Given the description of an element on the screen output the (x, y) to click on. 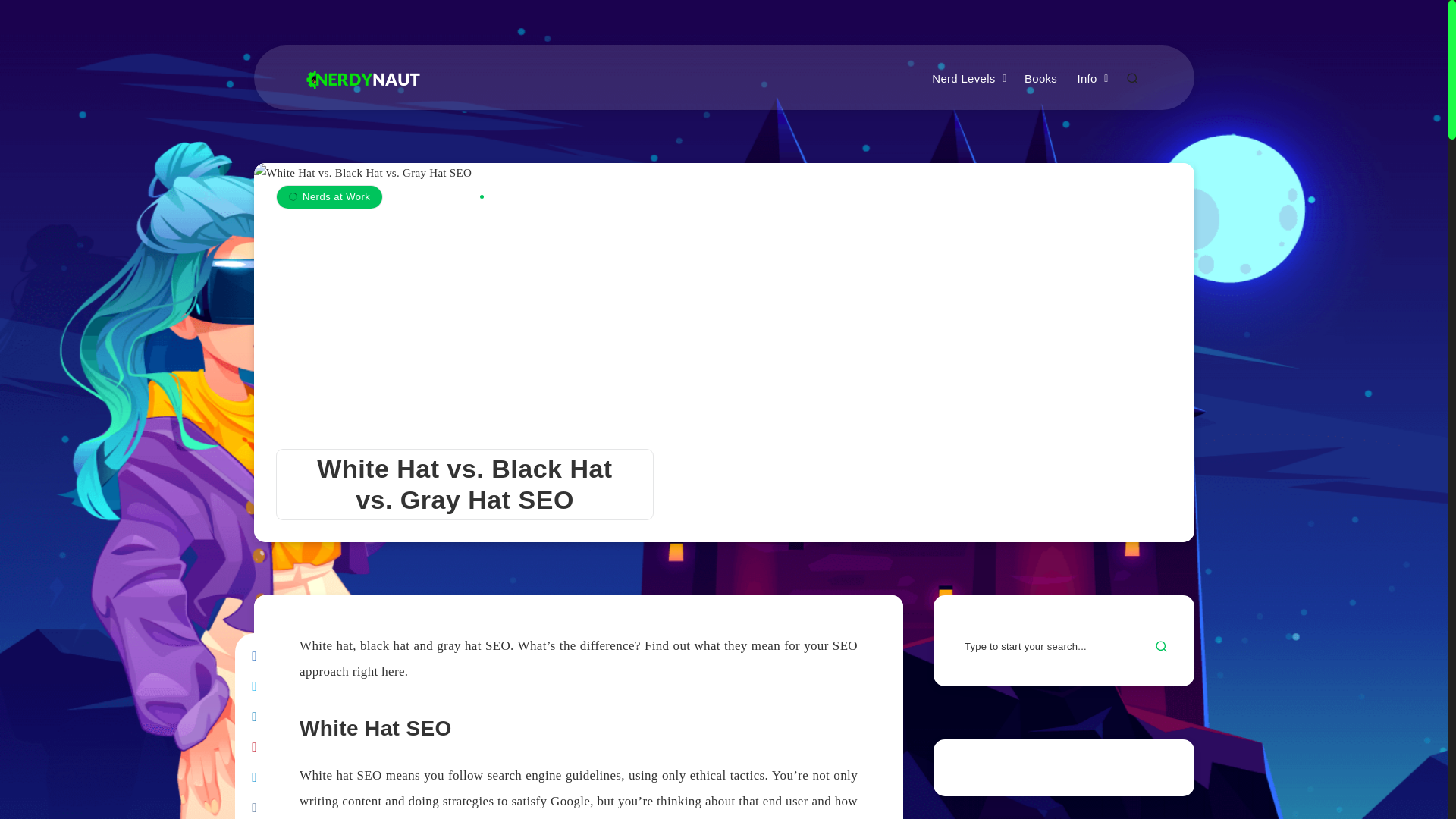
Books (1041, 79)
Nerd Levels (962, 79)
Info (1086, 79)
